Given the description of an element on the screen output the (x, y) to click on. 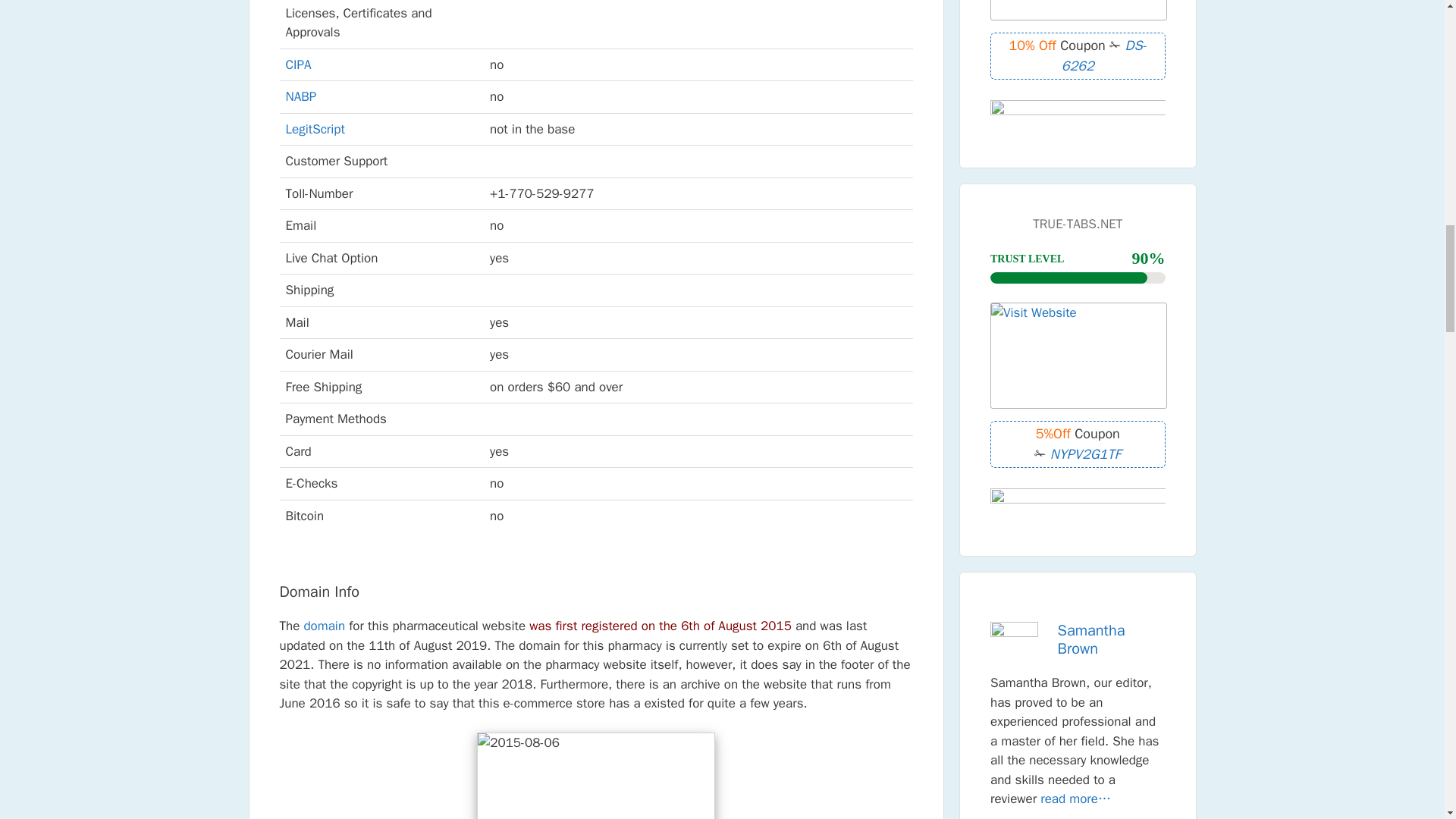
CIPA (298, 64)
NABP (300, 96)
creation date (595, 775)
LegitScript (314, 129)
domain (323, 625)
